Given the description of an element on the screen output the (x, y) to click on. 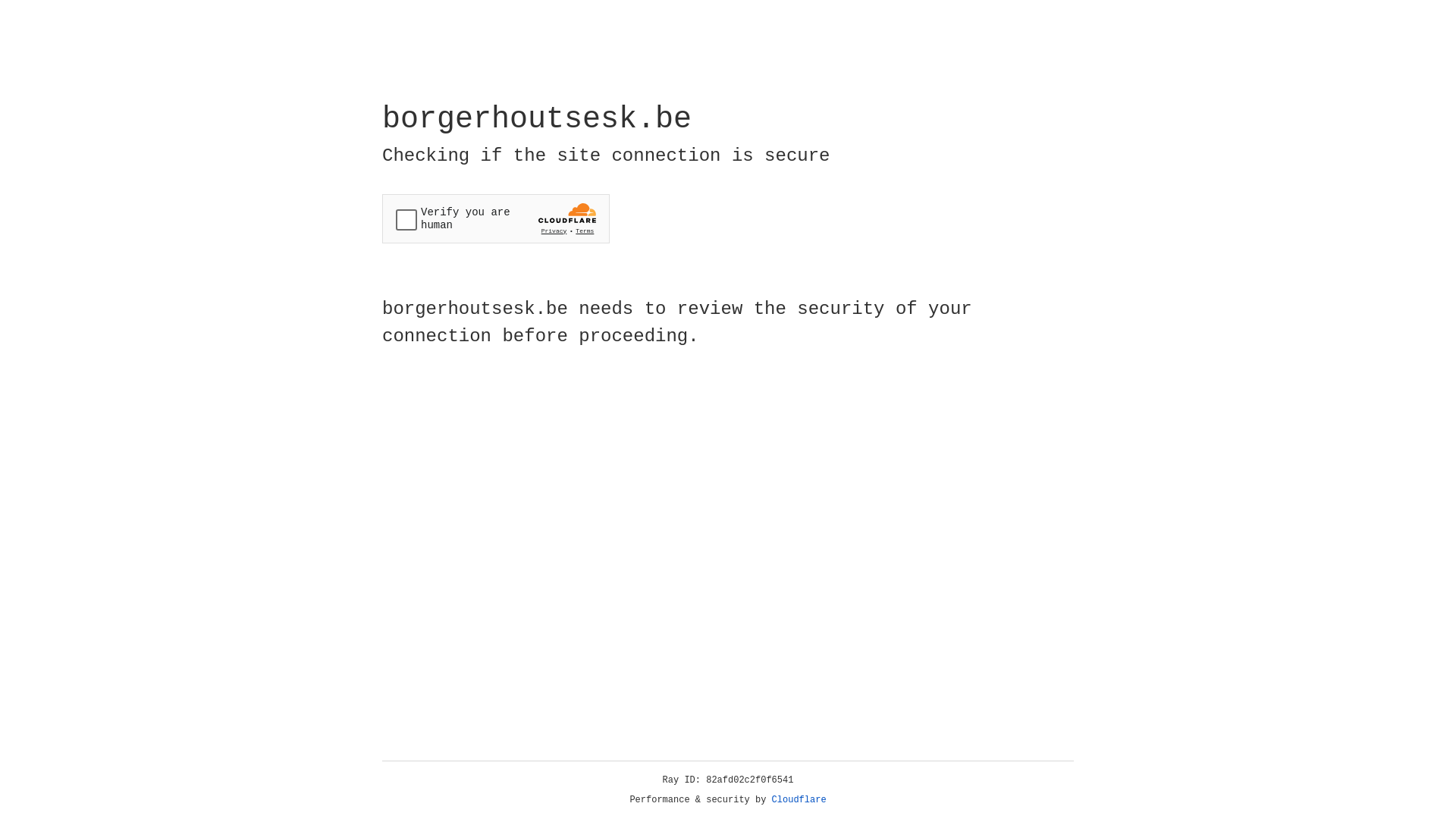
Cloudflare Element type: text (798, 799)
Widget containing a Cloudflare security challenge Element type: hover (495, 218)
